Given the description of an element on the screen output the (x, y) to click on. 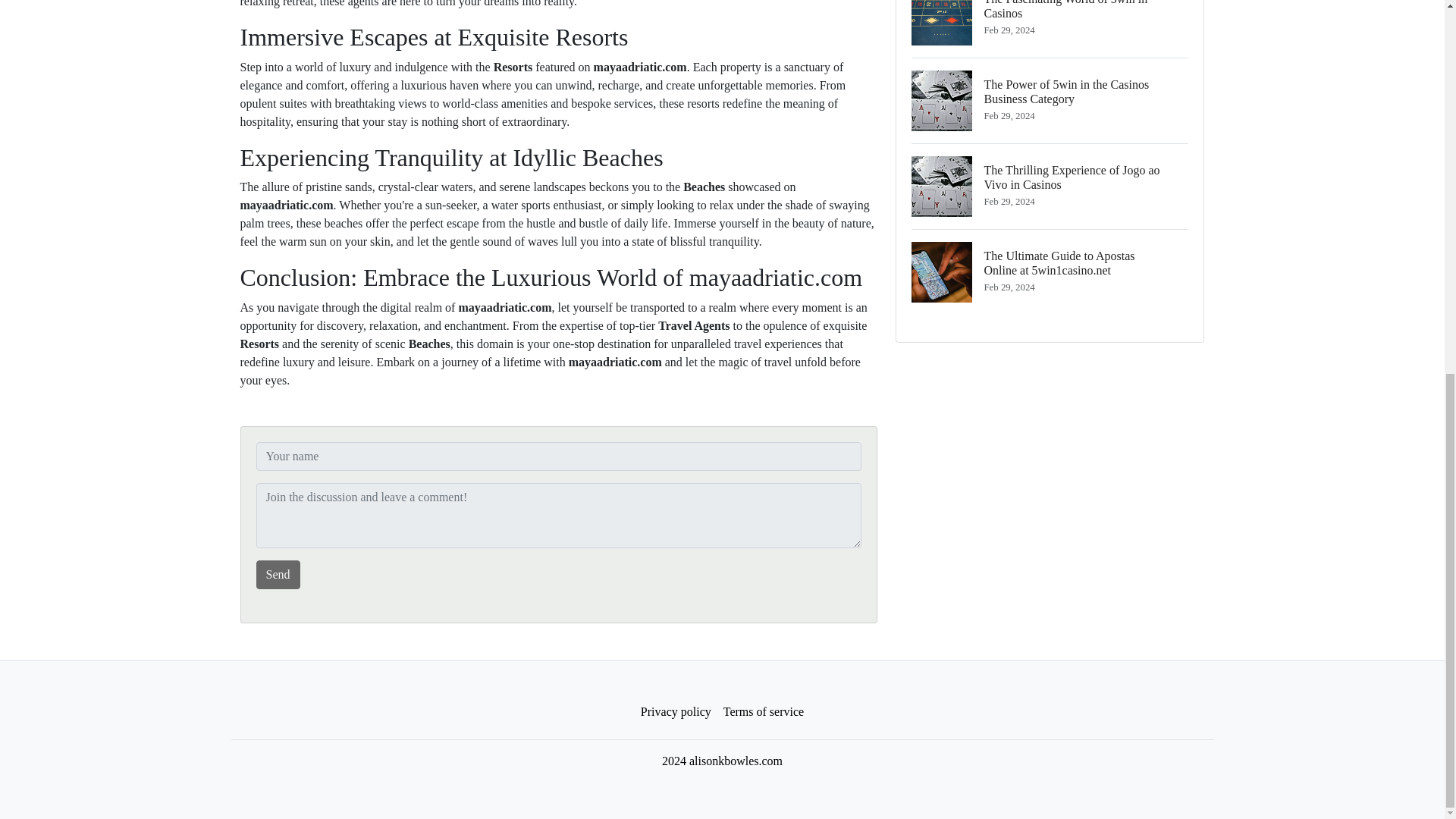
Privacy policy (675, 711)
Terms of service (1050, 28)
Send (763, 711)
Send (277, 574)
